Given the description of an element on the screen output the (x, y) to click on. 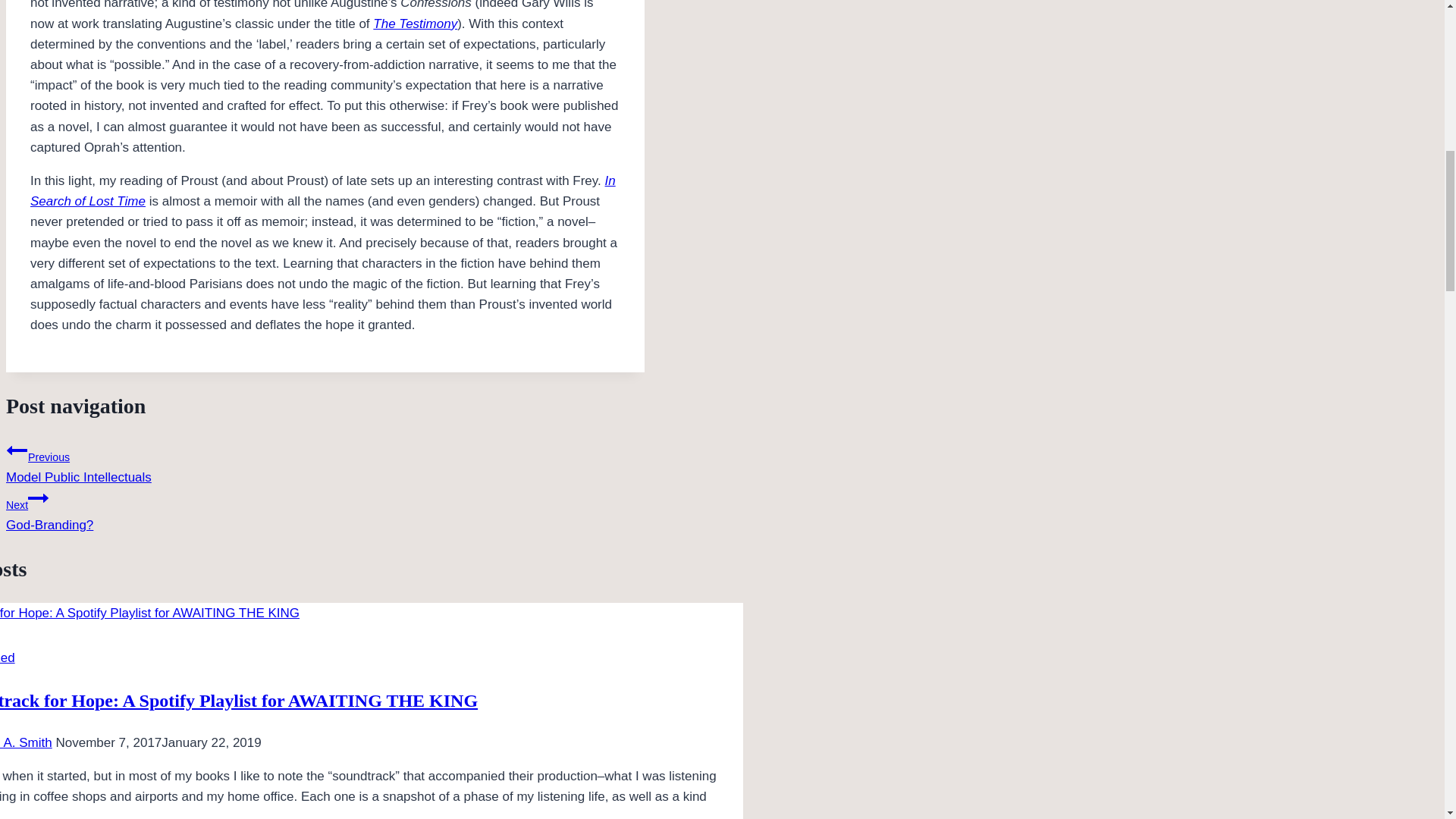
James K. A. Smith (26, 742)
The Testimony (414, 23)
Uncategorized (7, 657)
Continue (325, 509)
In Search of Lost Time (37, 497)
Previous (322, 190)
